Given the description of an element on the screen output the (x, y) to click on. 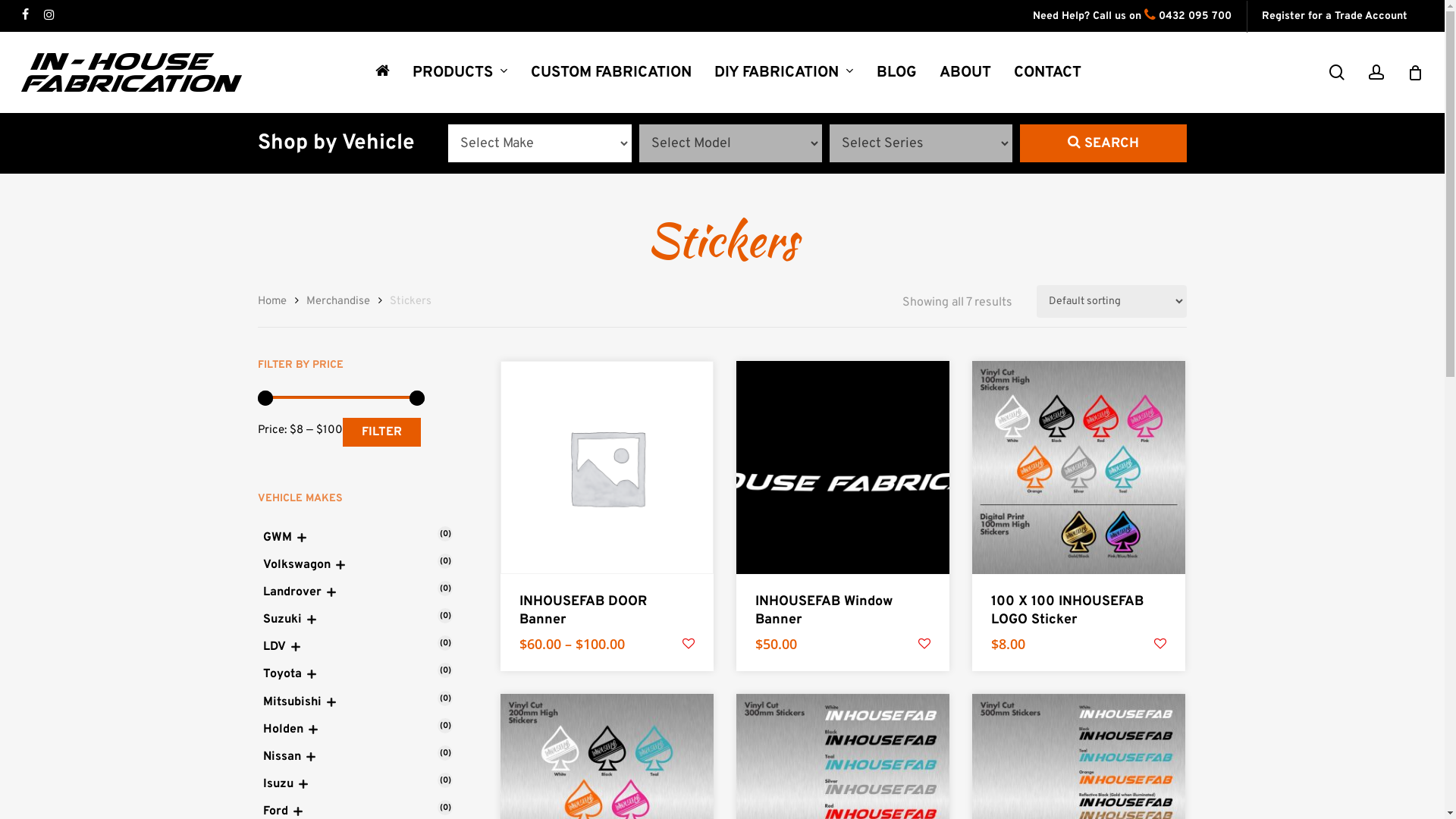
CONTACT Element type: text (1047, 72)
FILTER Element type: text (381, 431)
SEARCH Element type: text (1102, 143)
PRODUCTS Element type: text (459, 72)
INHOUSEFAB DOOR Banner Element type: text (598, 611)
BLOG Element type: text (895, 72)
DIY FABRICATION Element type: text (783, 72)
Home Element type: text (271, 301)
ABOUT Element type: text (965, 72)
facebook Element type: text (24, 15)
INHOUSEFAB Window Banner Element type: text (834, 611)
Register for a Trade Account Element type: text (1334, 15)
account Element type: text (1376, 72)
Need Help? Call us on 0432 095 700 Element type: text (1131, 15)
Merchandise Element type: text (338, 301)
search Element type: text (1336, 72)
instagram Element type: text (48, 15)
100 X 100 INHOUSEFAB LOGO Sticker Element type: text (1070, 611)
CUSTOM FABRICATION Element type: text (610, 72)
